Given the description of an element on the screen output the (x, y) to click on. 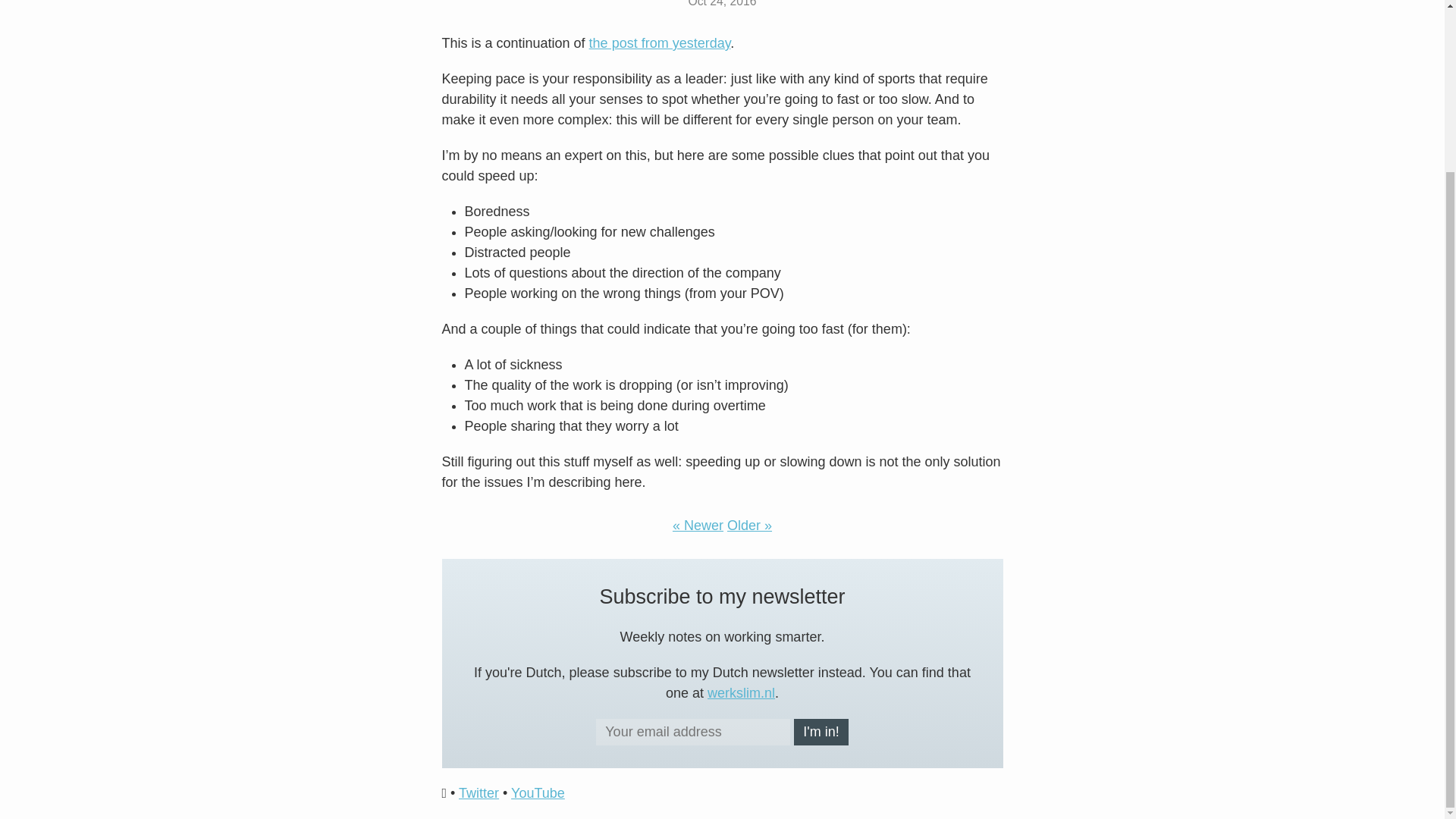
I'm in! (820, 732)
the post from yesterday (659, 43)
YouTube (537, 792)
werkslim.nl (740, 693)
Twitter (478, 792)
